Given the description of an element on the screen output the (x, y) to click on. 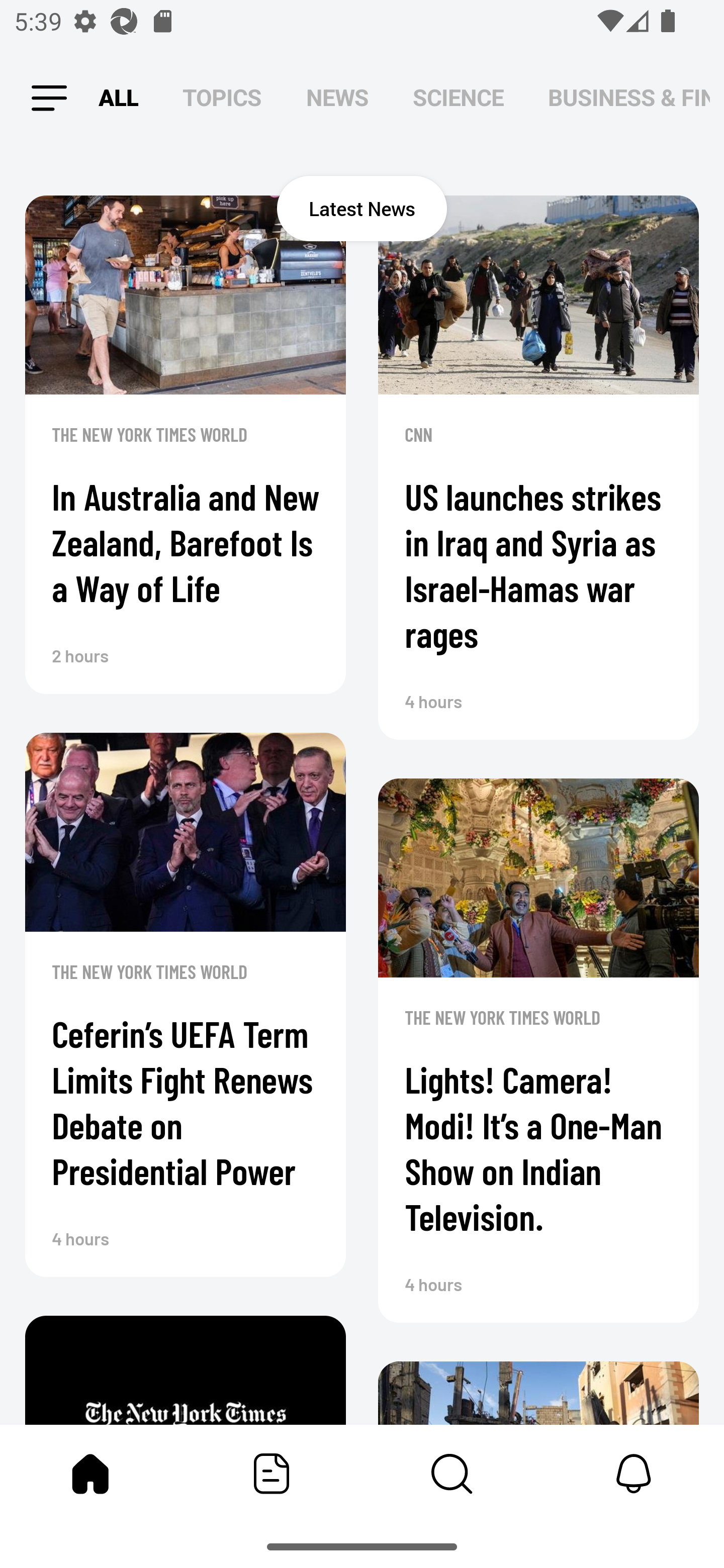
Leading Icon (49, 98)
TOPICS (222, 97)
NEWS (337, 97)
SCIENCE (457, 97)
BUSINESS & FINANCE (629, 97)
Latest News (361, 208)
Featured (271, 1473)
Content Store (452, 1473)
Notifications (633, 1473)
